Given the description of an element on the screen output the (x, y) to click on. 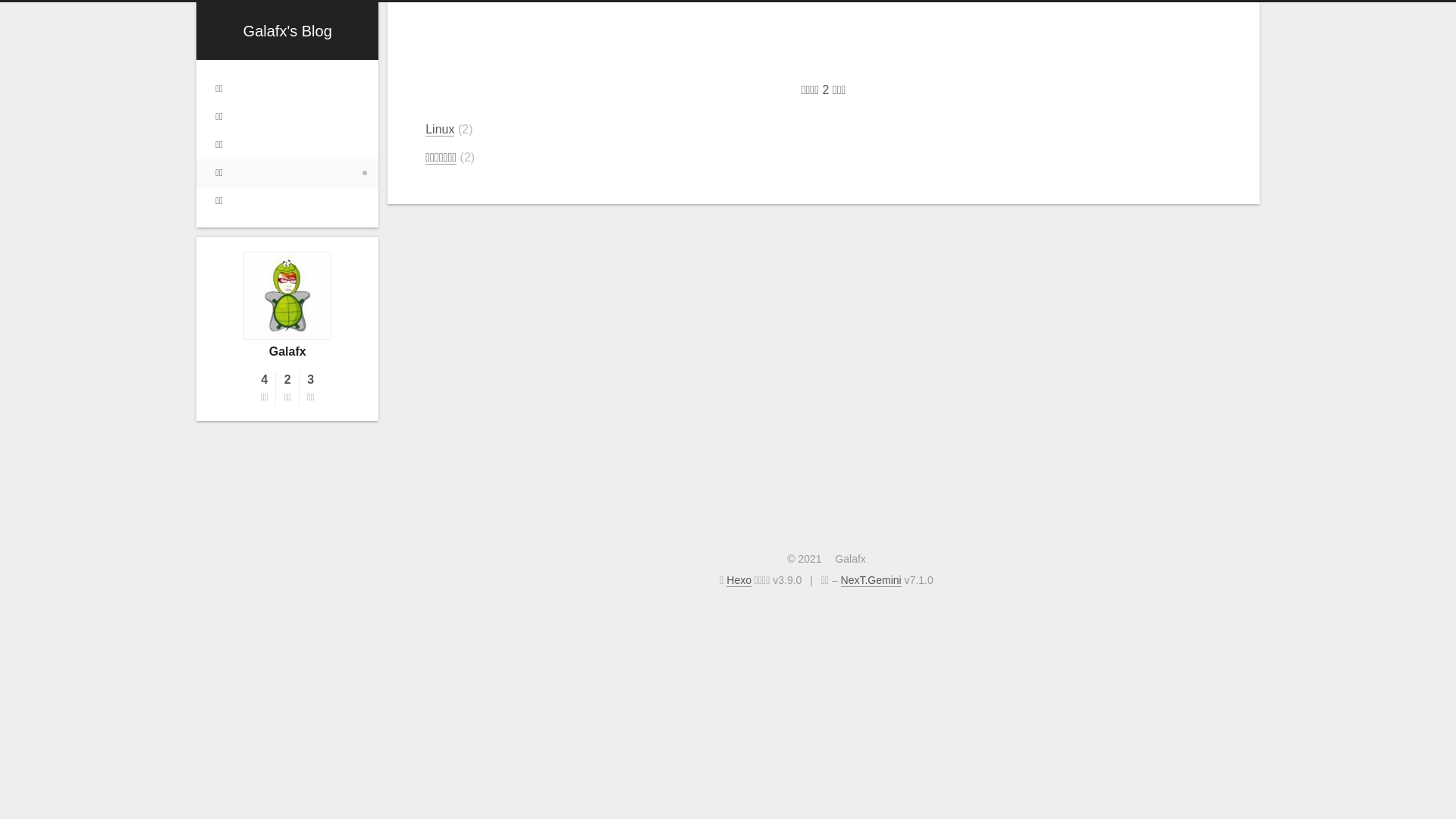
Galafx's Blog Element type: text (287, 30)
Linux Element type: text (439, 129)
NexT.Gemini Element type: text (870, 580)
Hexo Element type: text (738, 580)
